Given the description of an element on the screen output the (x, y) to click on. 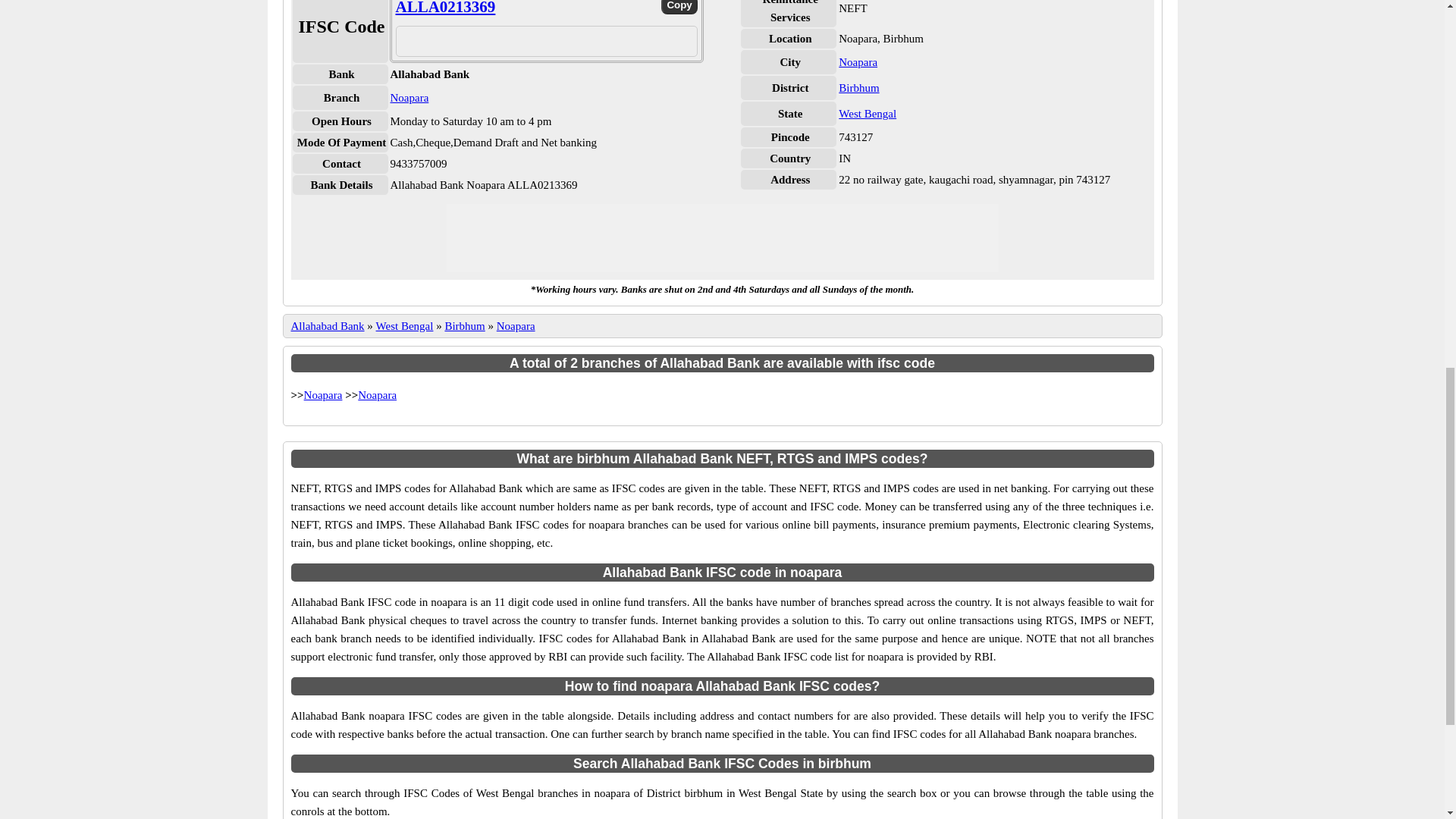
LinkedIn (582, 36)
Twitter (557, 36)
EMail (533, 36)
Noapara (409, 97)
Share on Facebook (508, 42)
Noapara (857, 61)
Copy (679, 7)
West Bengal (404, 326)
ALLA0213369 (446, 7)
Noapara (323, 395)
Share on Twitter (557, 42)
Noapara (515, 326)
Birbhum (858, 87)
Facebook (508, 36)
Allahabad Bank (328, 326)
